Given the description of an element on the screen output the (x, y) to click on. 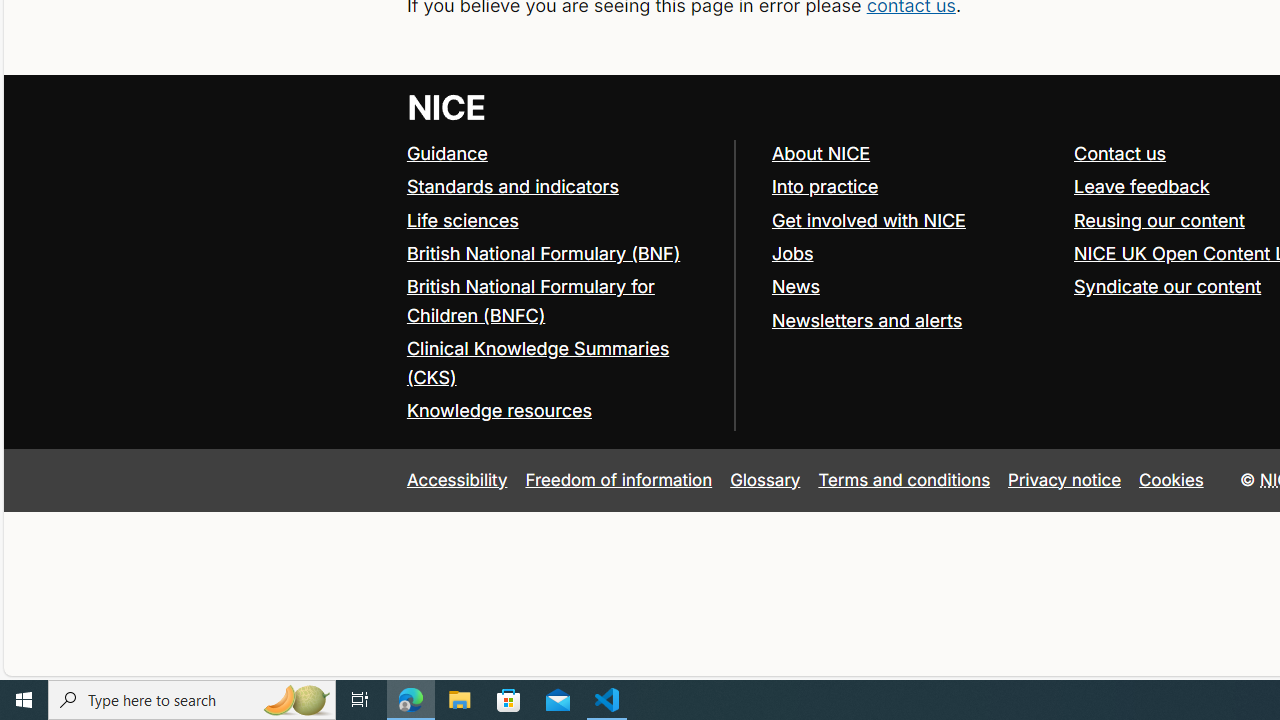
Reusing our content (1159, 219)
Terms and conditions (903, 479)
Knowledge resources (560, 411)
British National Formulary for Children (BNFC) (560, 301)
Freedom of information (618, 479)
Get involved with NICE (868, 219)
Go to NICE home page (445, 106)
Cookies (1171, 479)
Privacy notice (1065, 479)
Guidance (446, 152)
Life sciences (560, 220)
Life sciences (461, 219)
Contact us (1120, 152)
